Given the description of an element on the screen output the (x, y) to click on. 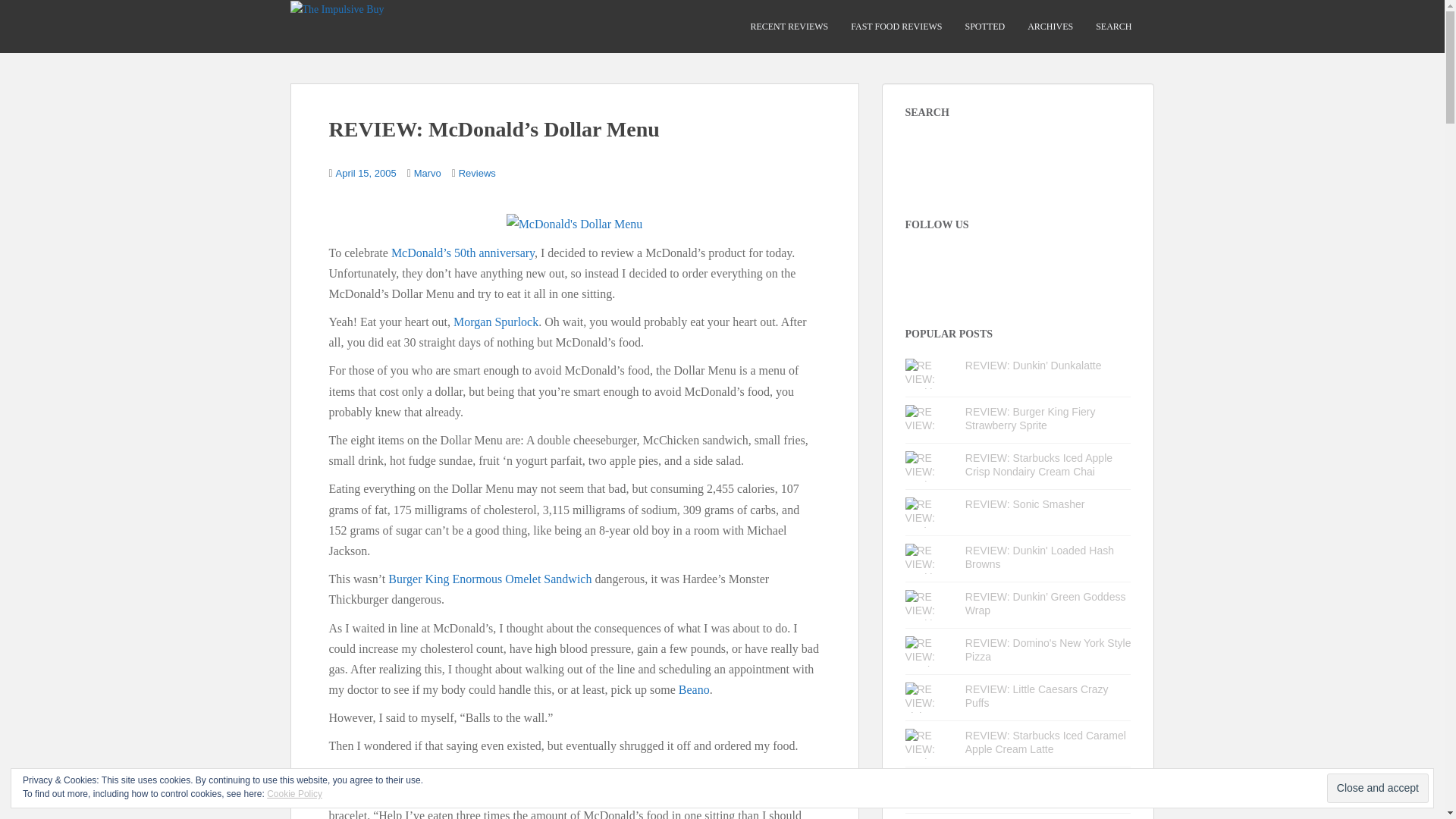
SEARCH (1113, 26)
Close and accept (1377, 788)
ARCHIVES (1050, 26)
RECENT REVIEWS (788, 26)
SPOTTED (983, 26)
Reviews (477, 173)
REVIEW: Starbucks Iced Apple Crisp Nondairy Cream Chai (1038, 464)
McDonald's Dollar Menu by theimpulsivebuy, on Flickr (574, 223)
Beano (694, 689)
Morgan Spurlock (495, 321)
